Given the description of an element on the screen output the (x, y) to click on. 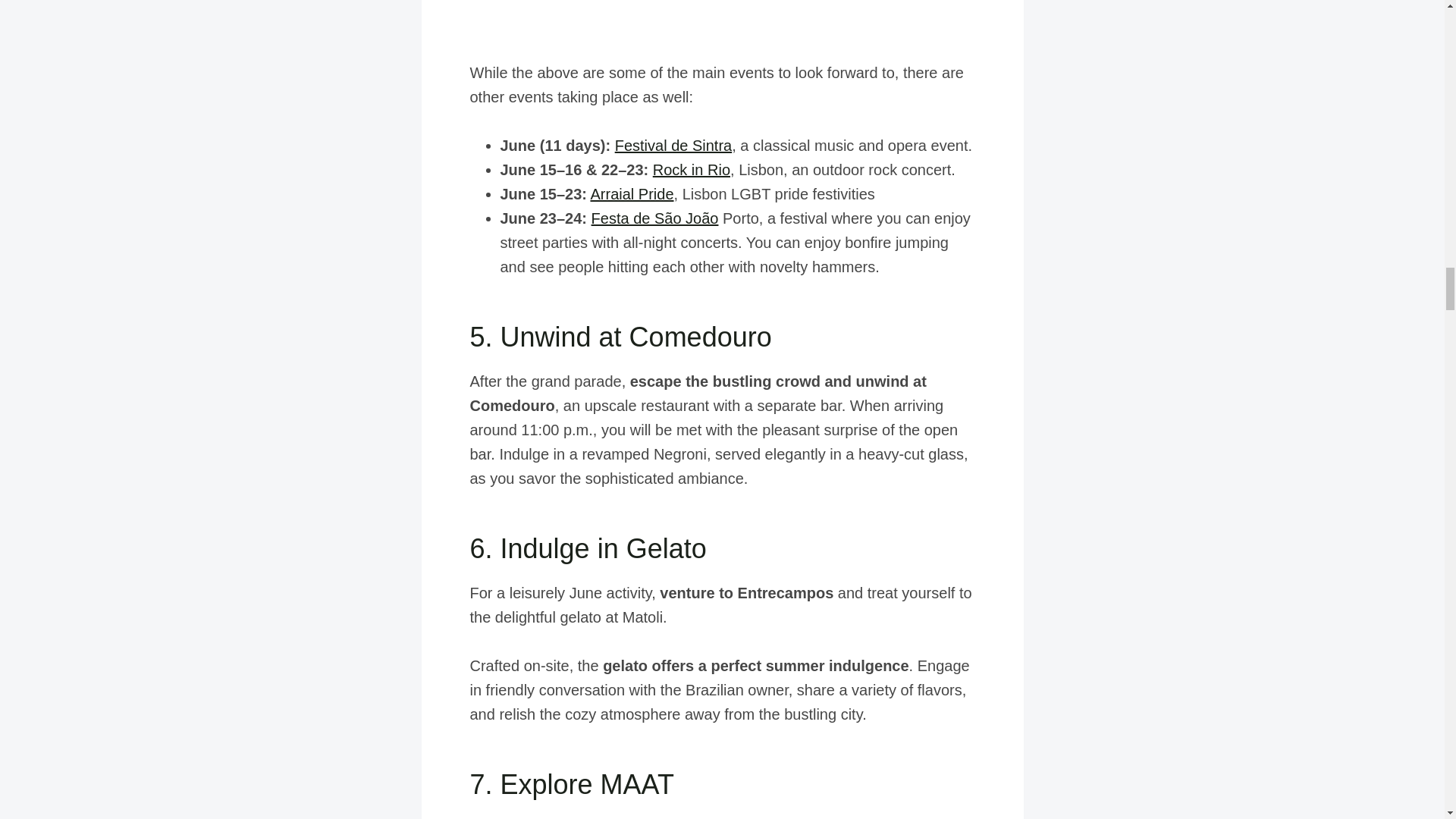
Arraial Pride (630, 193)
Festival de Sintra (673, 145)
Rock in Rio (691, 169)
Lisbon in June: 17 Things to Do and Pack 6 (722, 18)
